Given the description of an element on the screen output the (x, y) to click on. 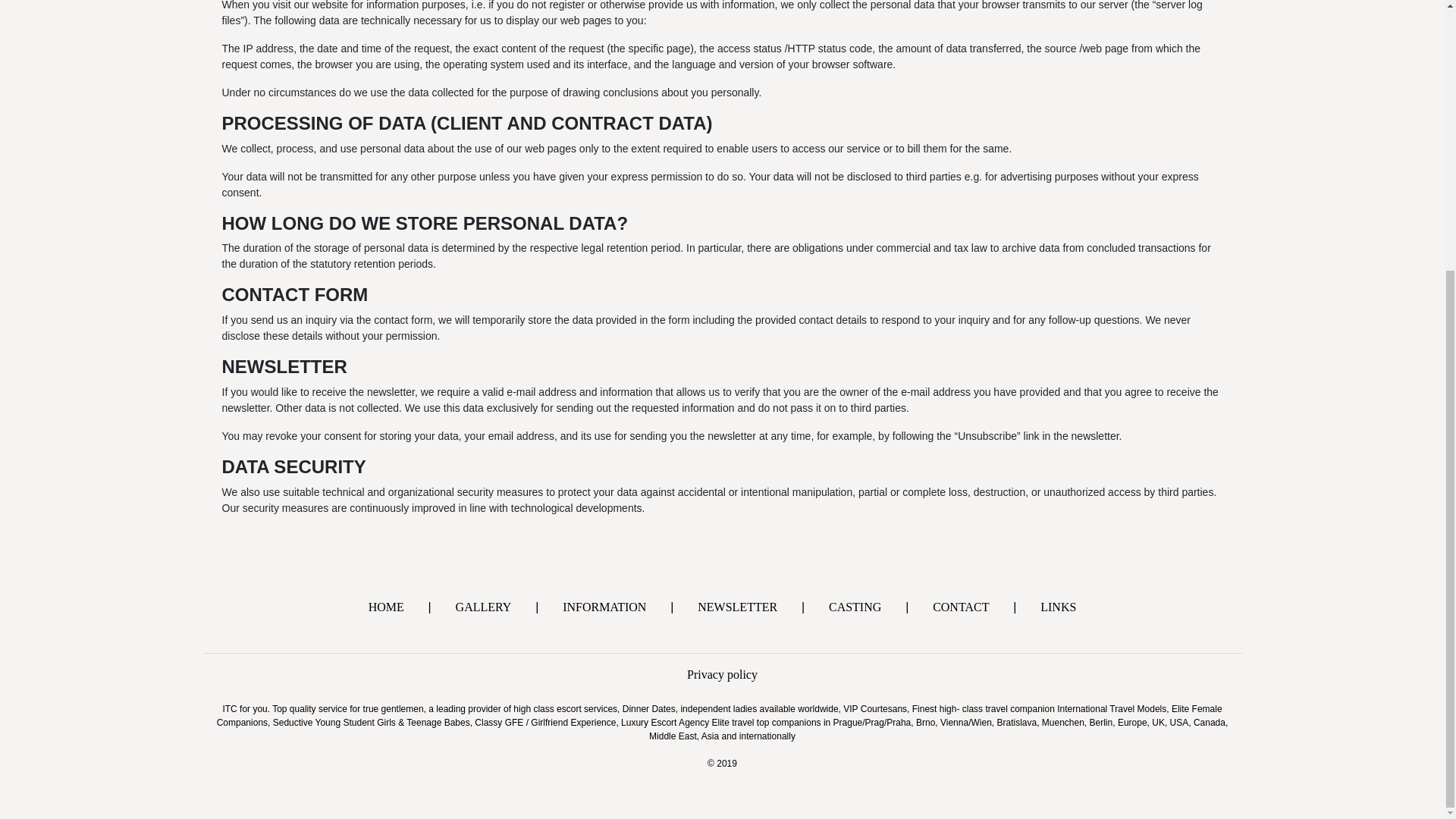
LINKS (1058, 606)
HOME (386, 606)
CONTACT (961, 606)
CASTING (855, 606)
INFORMATION (603, 606)
GALLERY (482, 606)
NEWSLETTER (737, 606)
Privacy policy (722, 674)
